Given the description of an element on the screen output the (x, y) to click on. 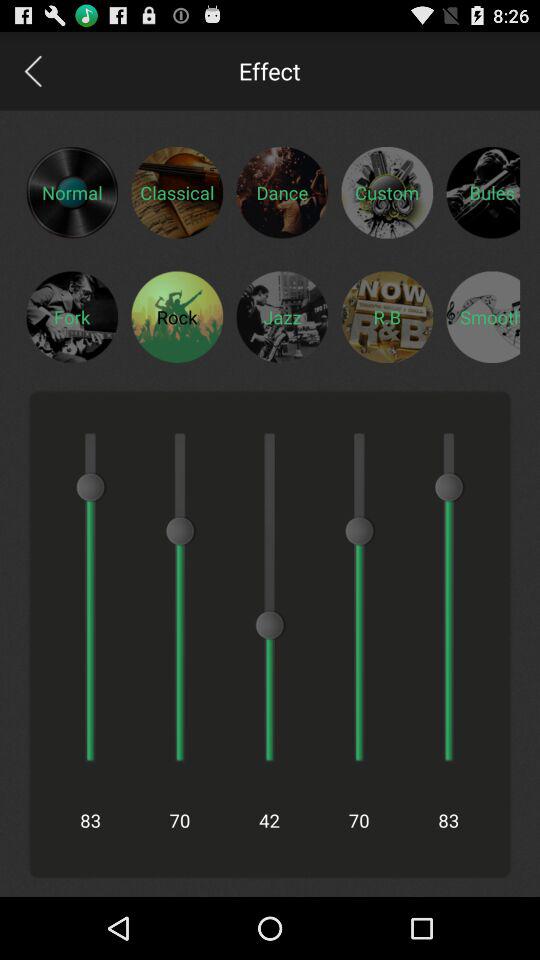
make custom effect (387, 191)
